Given the description of an element on the screen output the (x, y) to click on. 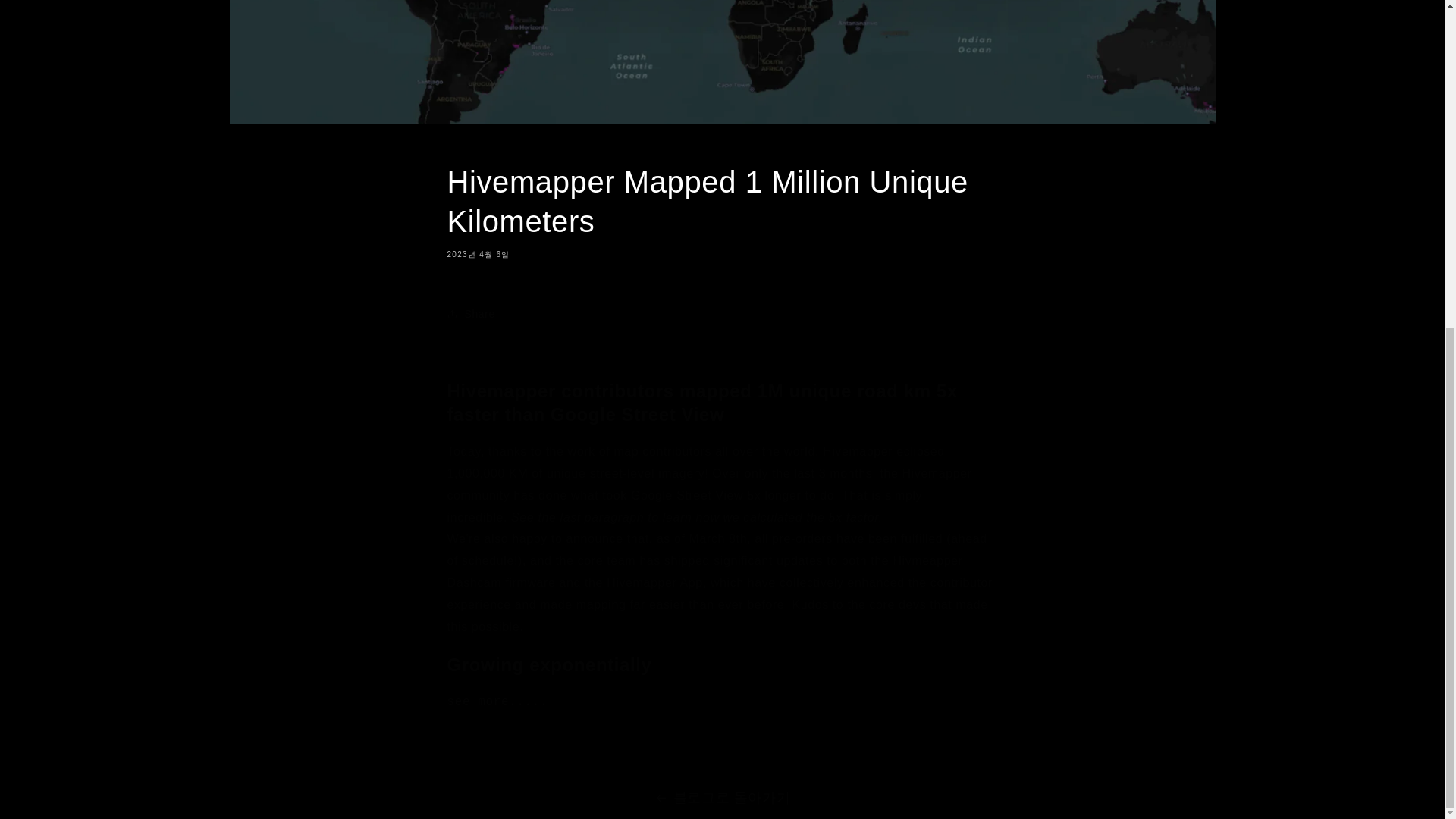
Share (721, 313)
